Given the description of an element on the screen output the (x, y) to click on. 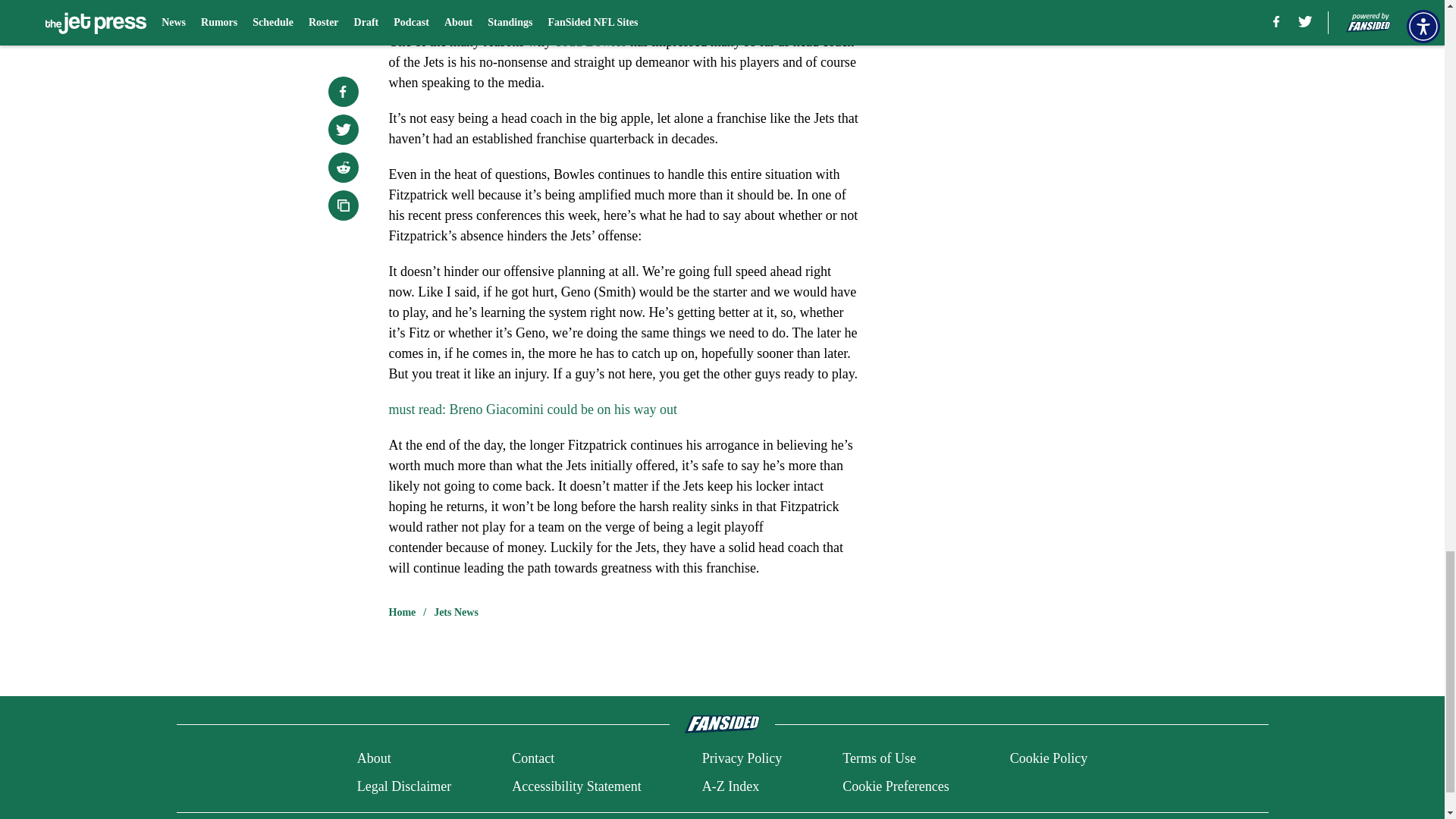
Jets News (456, 612)
Home (401, 612)
Cookie Policy (1048, 758)
Todd Bowles (590, 41)
About (373, 758)
must read: Breno Giacomini could be on his way out (532, 409)
Privacy Policy (742, 758)
Terms of Use (879, 758)
Contact (533, 758)
